Given the description of an element on the screen output the (x, y) to click on. 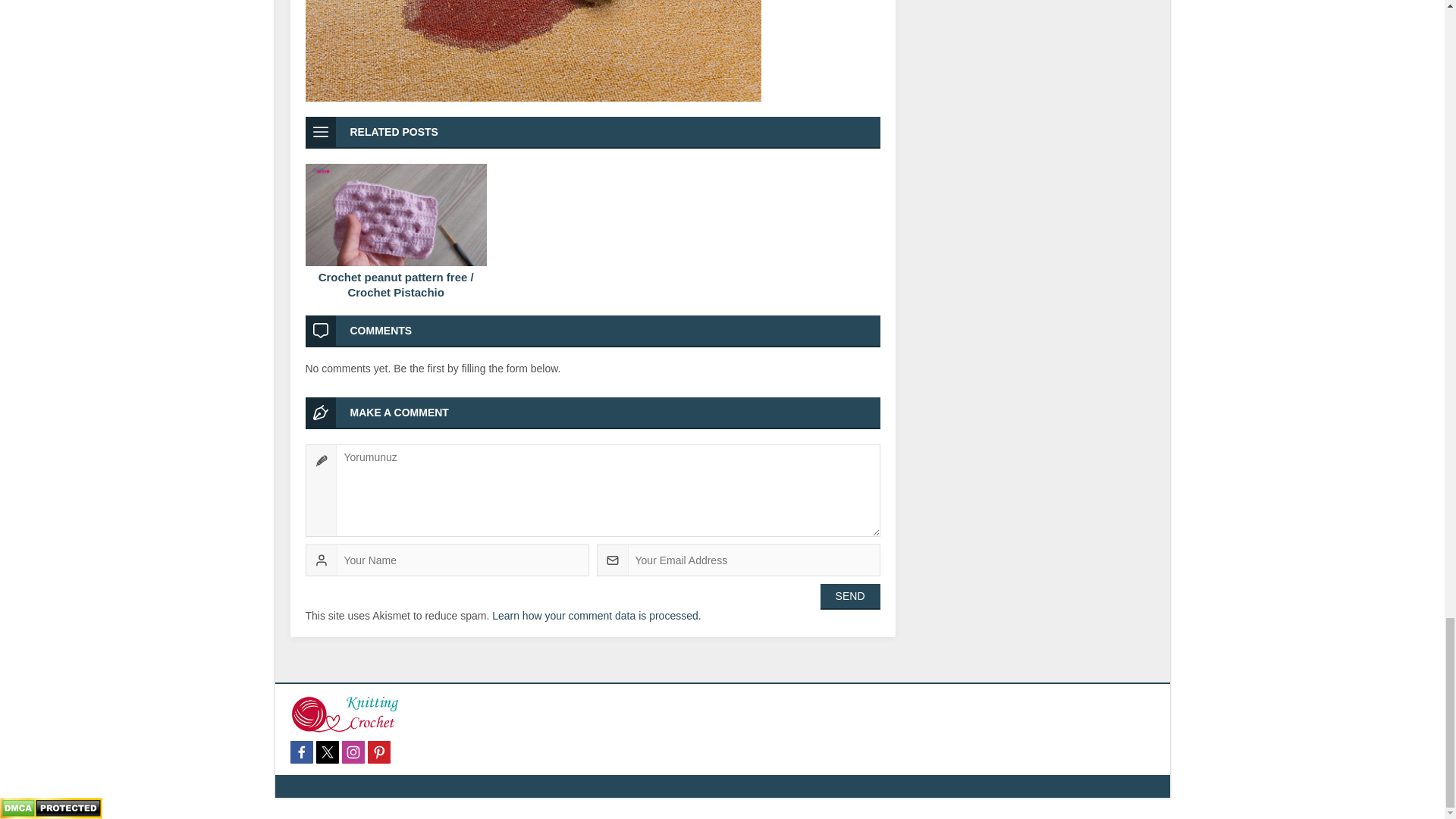
Send (850, 596)
